Given the description of an element on the screen output the (x, y) to click on. 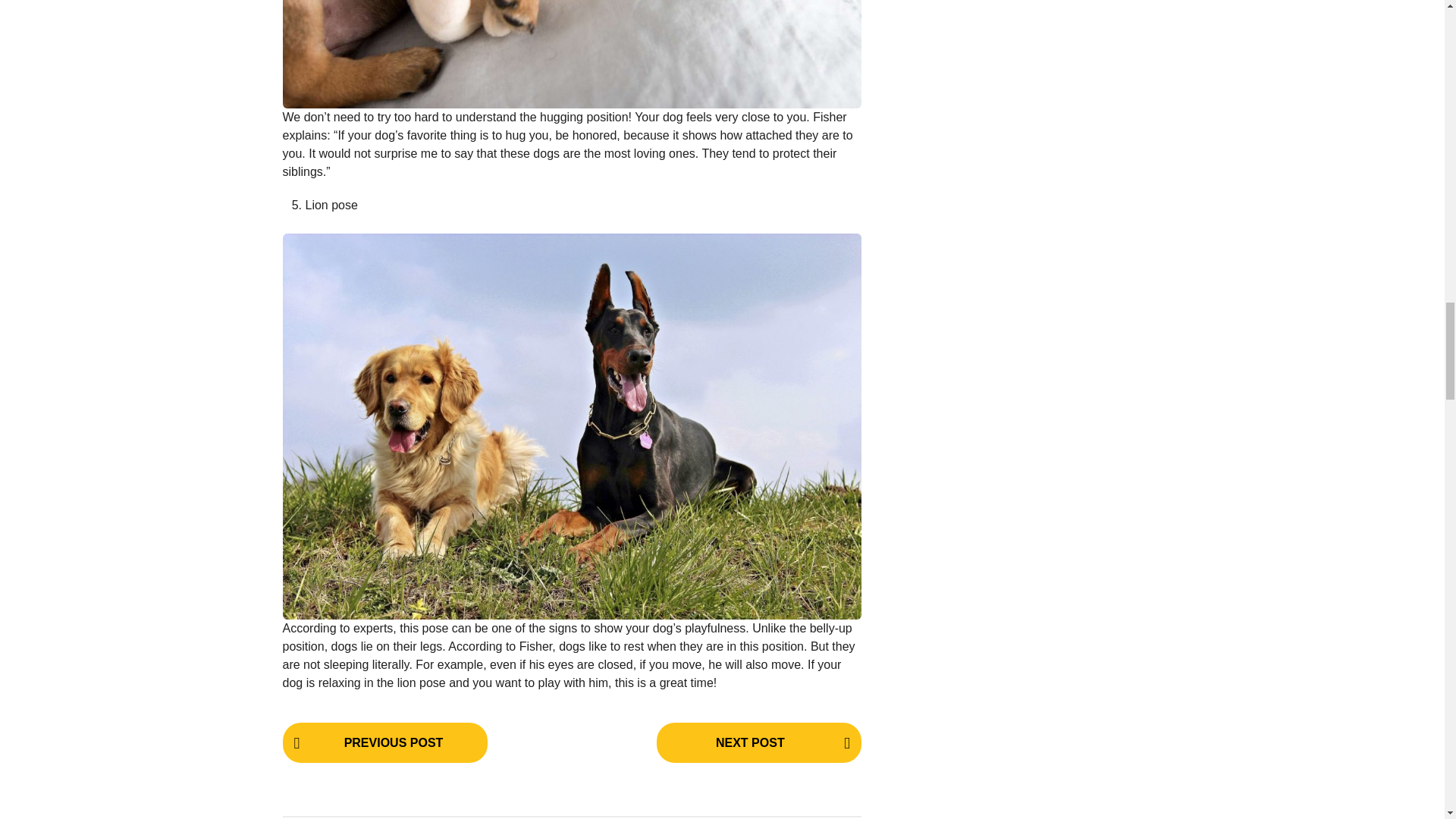
PREVIOUS POST (384, 742)
NEXT POST (758, 742)
